Given the description of an element on the screen output the (x, y) to click on. 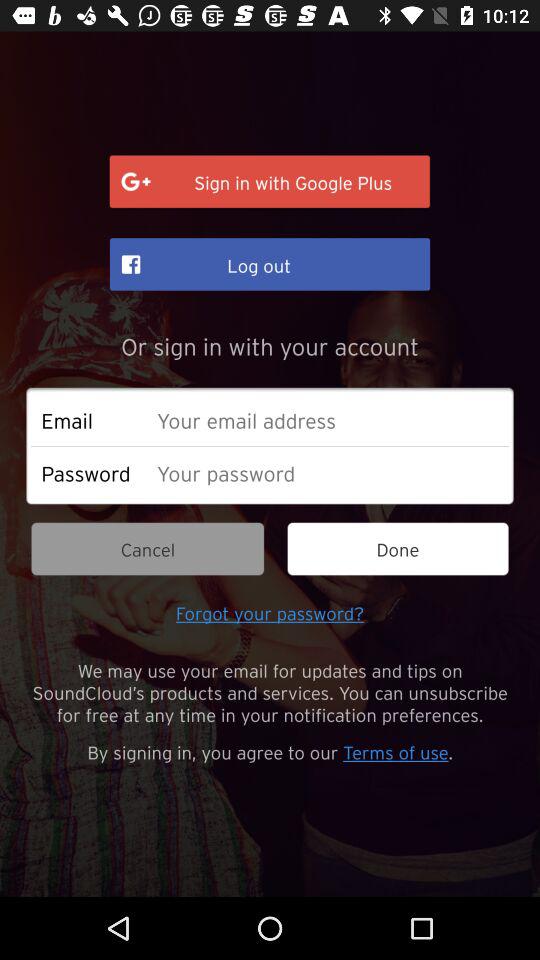
scroll until the forgot your password? icon (269, 612)
